Given the description of an element on the screen output the (x, y) to click on. 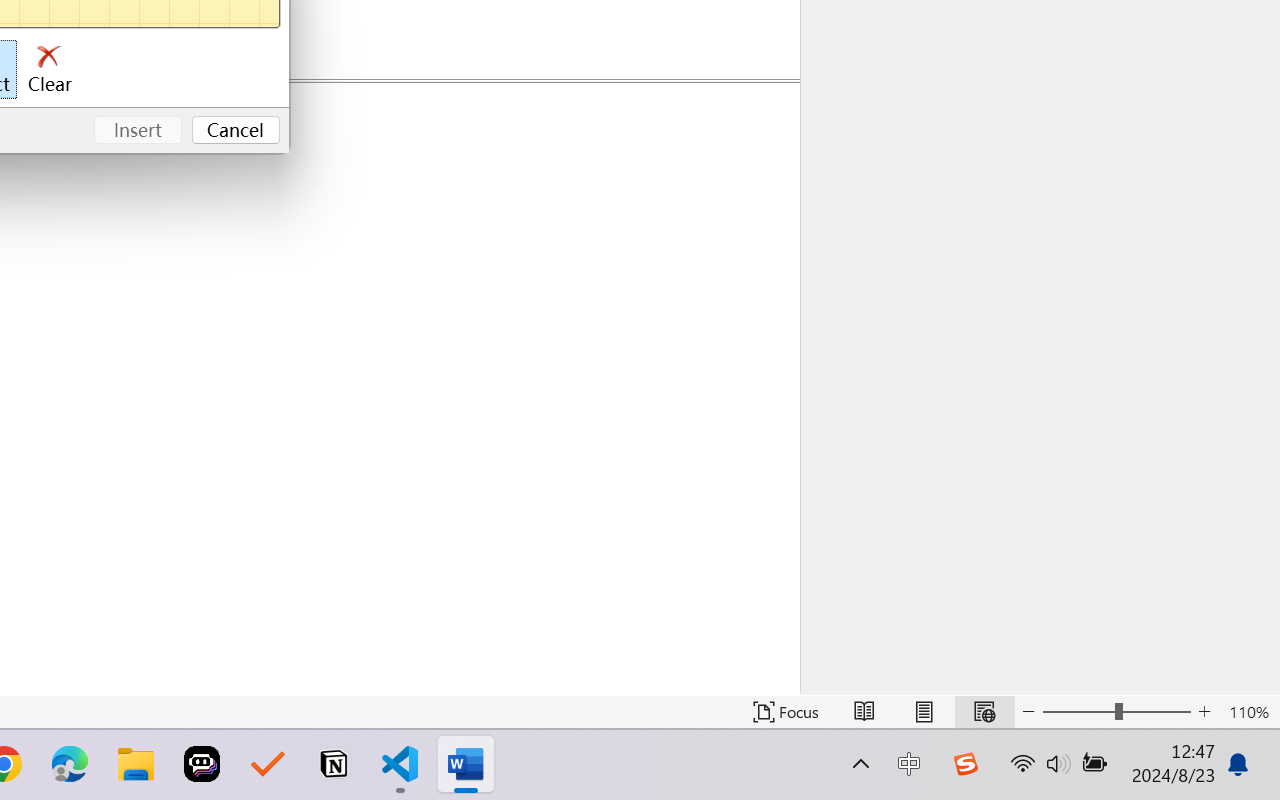
Clear (49, 69)
Microsoft Edge (69, 764)
